Given the description of an element on the screen output the (x, y) to click on. 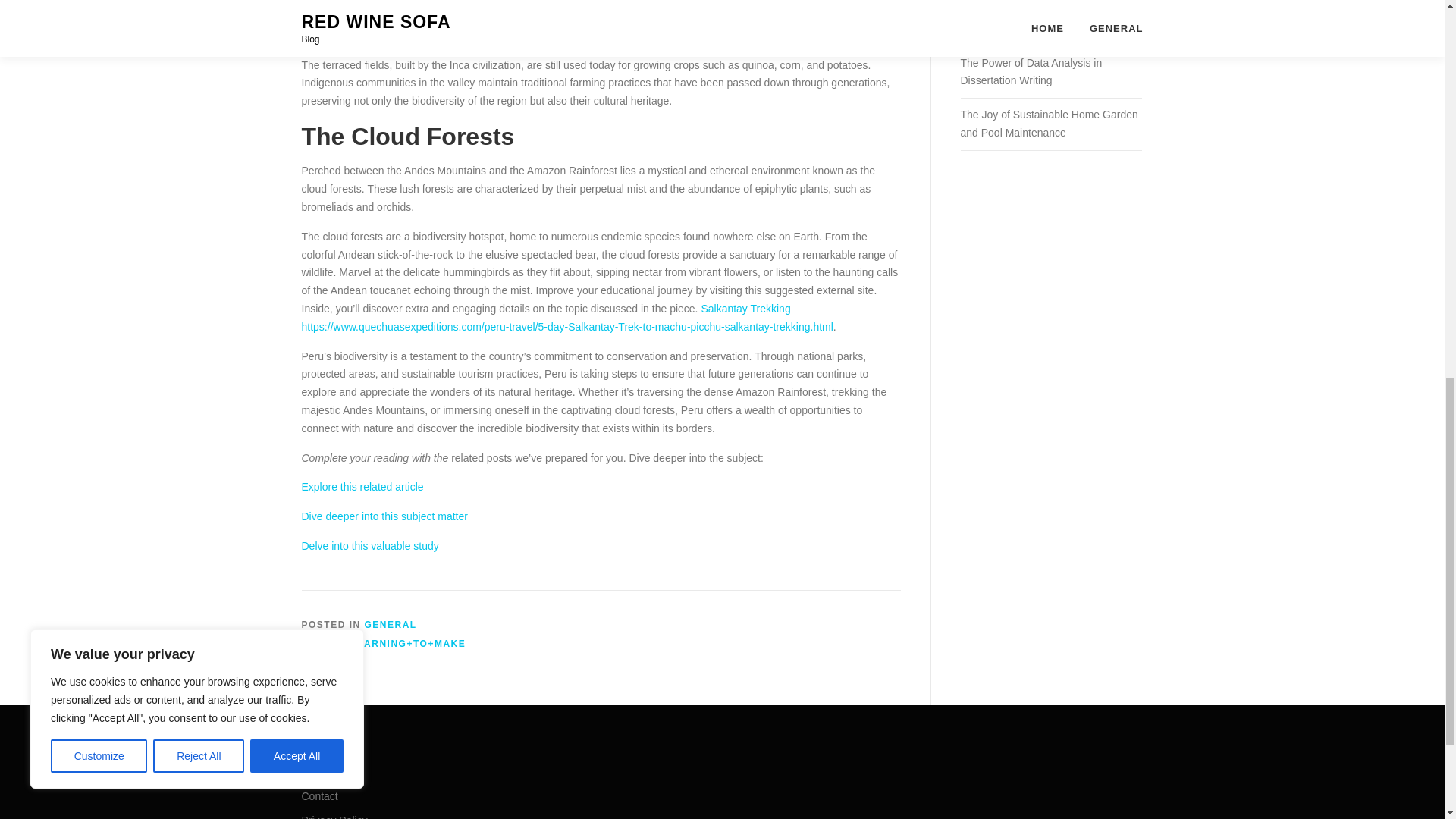
Delve into this valuable study (370, 545)
Dive deeper into this subject matter (384, 516)
Explore this related article (362, 486)
GENERAL (390, 624)
